Given the description of an element on the screen output the (x, y) to click on. 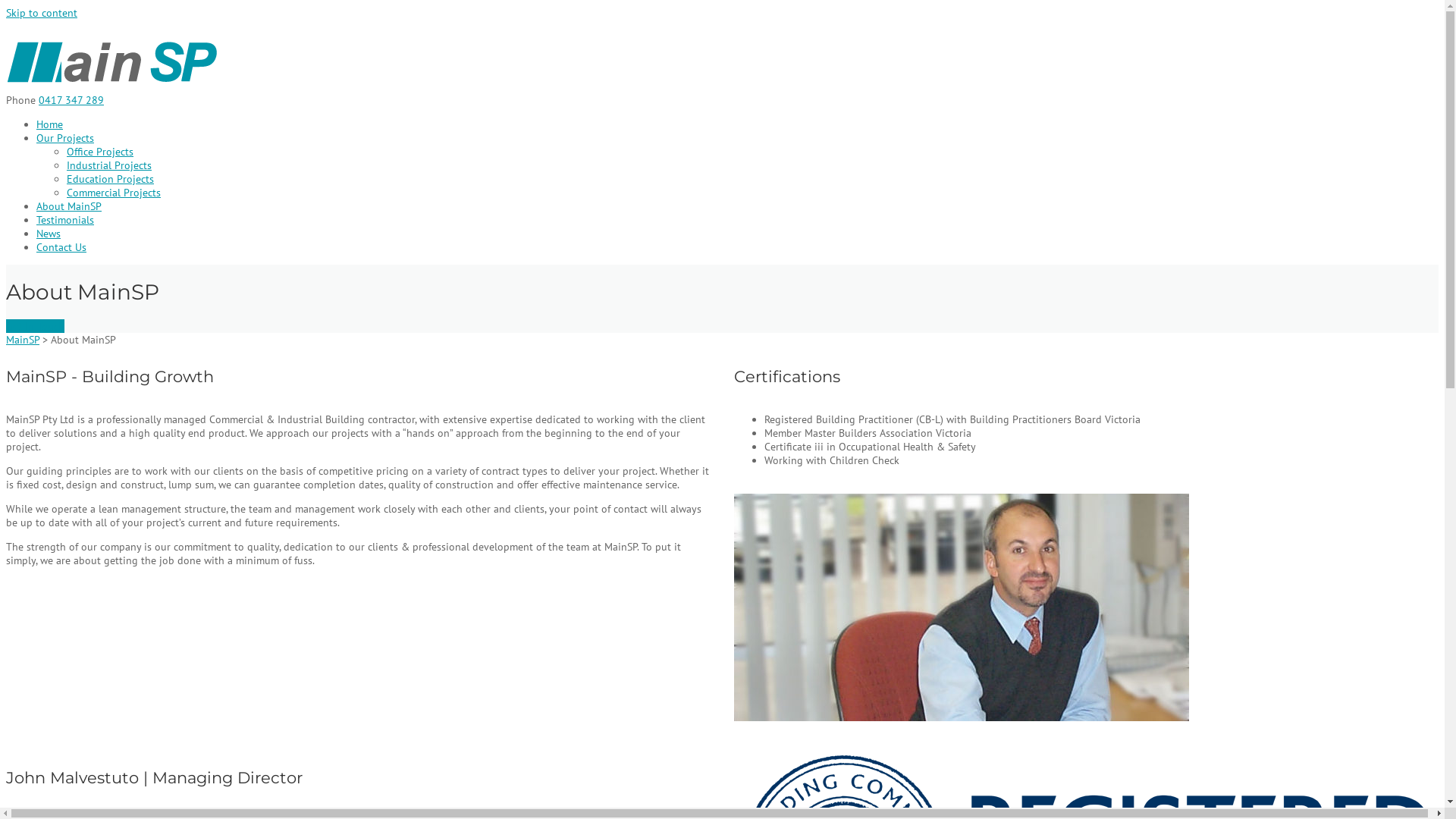
Skip to content Element type: text (41, 12)
Industrial Projects Element type: text (108, 165)
News Element type: text (48, 233)
Home Element type: text (49, 124)
Commercial Projects Element type: text (113, 192)
About MainSP Element type: text (68, 206)
MainSP Element type: text (22, 338)
Get In Touch Element type: text (35, 325)
Our Projects Element type: text (65, 137)
MainSP Element type: hover (112, 86)
Office Projects Element type: text (99, 151)
0417 347 289 Element type: text (70, 99)
Contact Us Element type: text (61, 247)
Testimonials Element type: text (65, 219)
Education Projects Element type: text (109, 178)
